Given the description of an element on the screen output the (x, y) to click on. 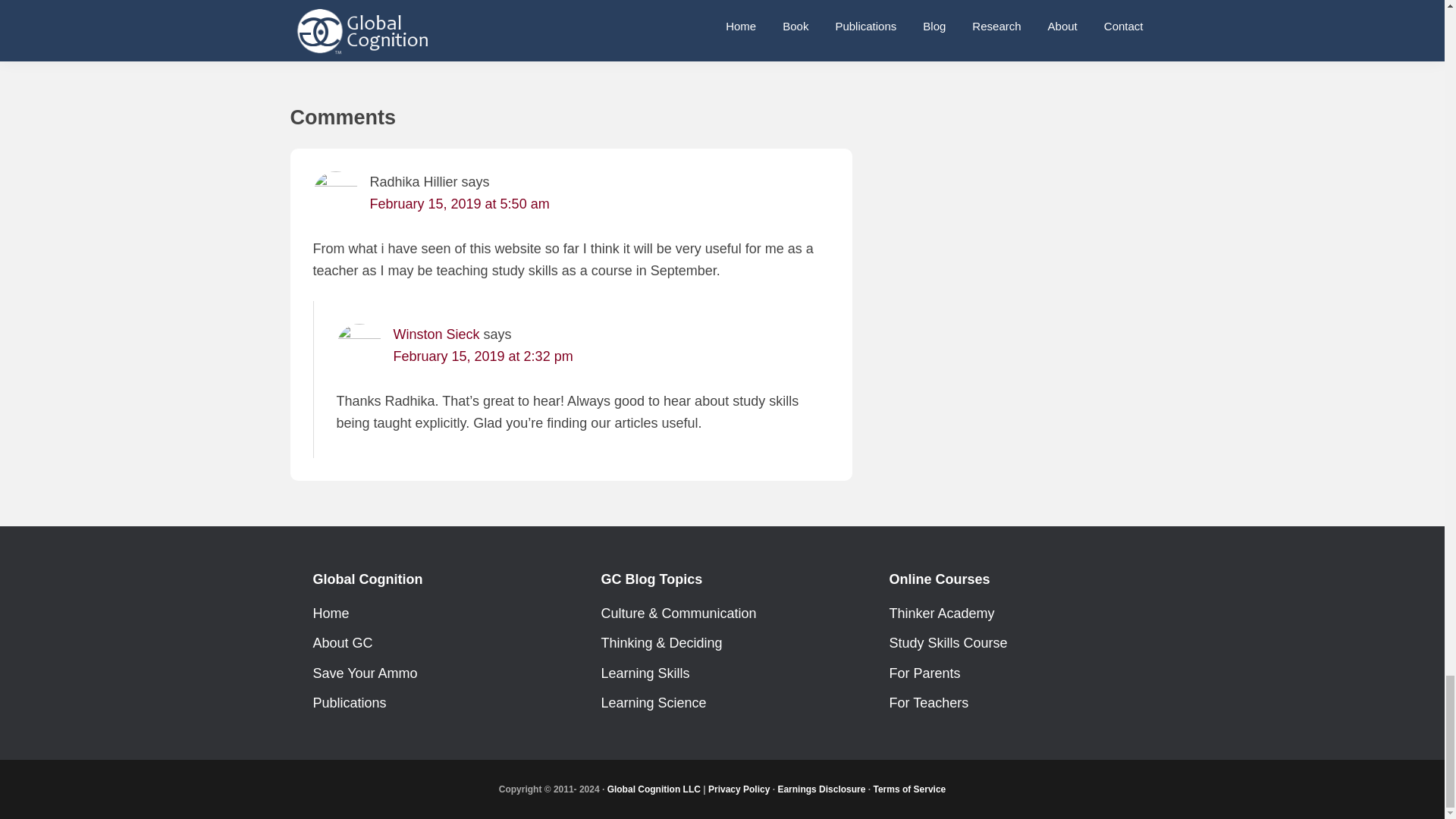
Thinker Academy (520, 25)
Winston Sieck (436, 334)
February 15, 2019 at 2:32 pm (482, 355)
February 15, 2019 at 5:50 am (459, 203)
